Given the description of an element on the screen output the (x, y) to click on. 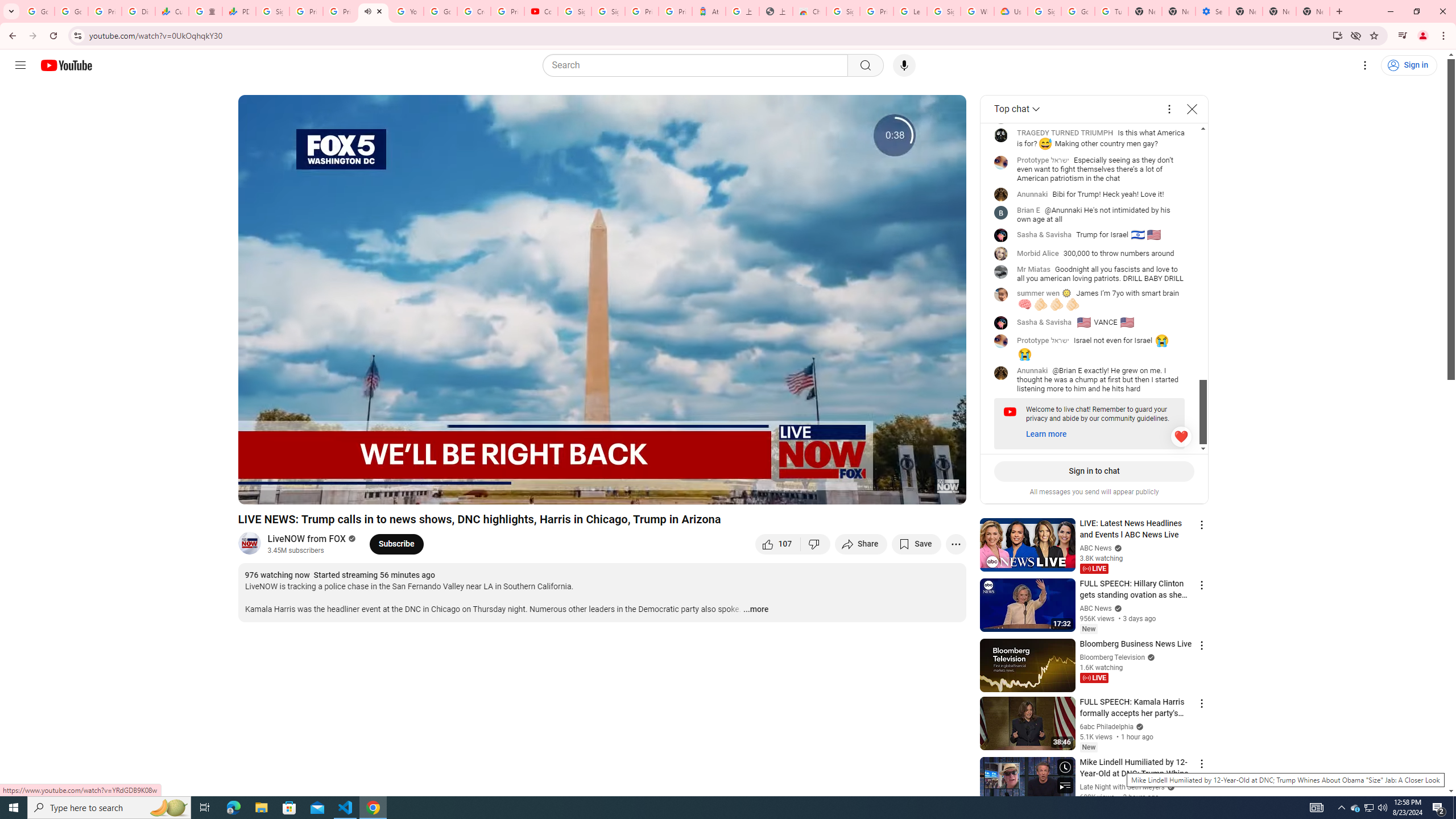
Live Chat mode selection (1017, 109)
Privacy Checkup (339, 11)
Save to playlist (915, 543)
Install YouTube (1336, 35)
Atour Hotel - Google hotels (708, 11)
Currencies - Google Finance (171, 11)
Google Account Help (441, 11)
PDD Holdings Inc - ADR (PDD) Price & News - Google Finance (238, 11)
Sign in - Google Accounts (272, 11)
Seek slider (601, 476)
Channel watermark (947, 486)
